Given the description of an element on the screen output the (x, y) to click on. 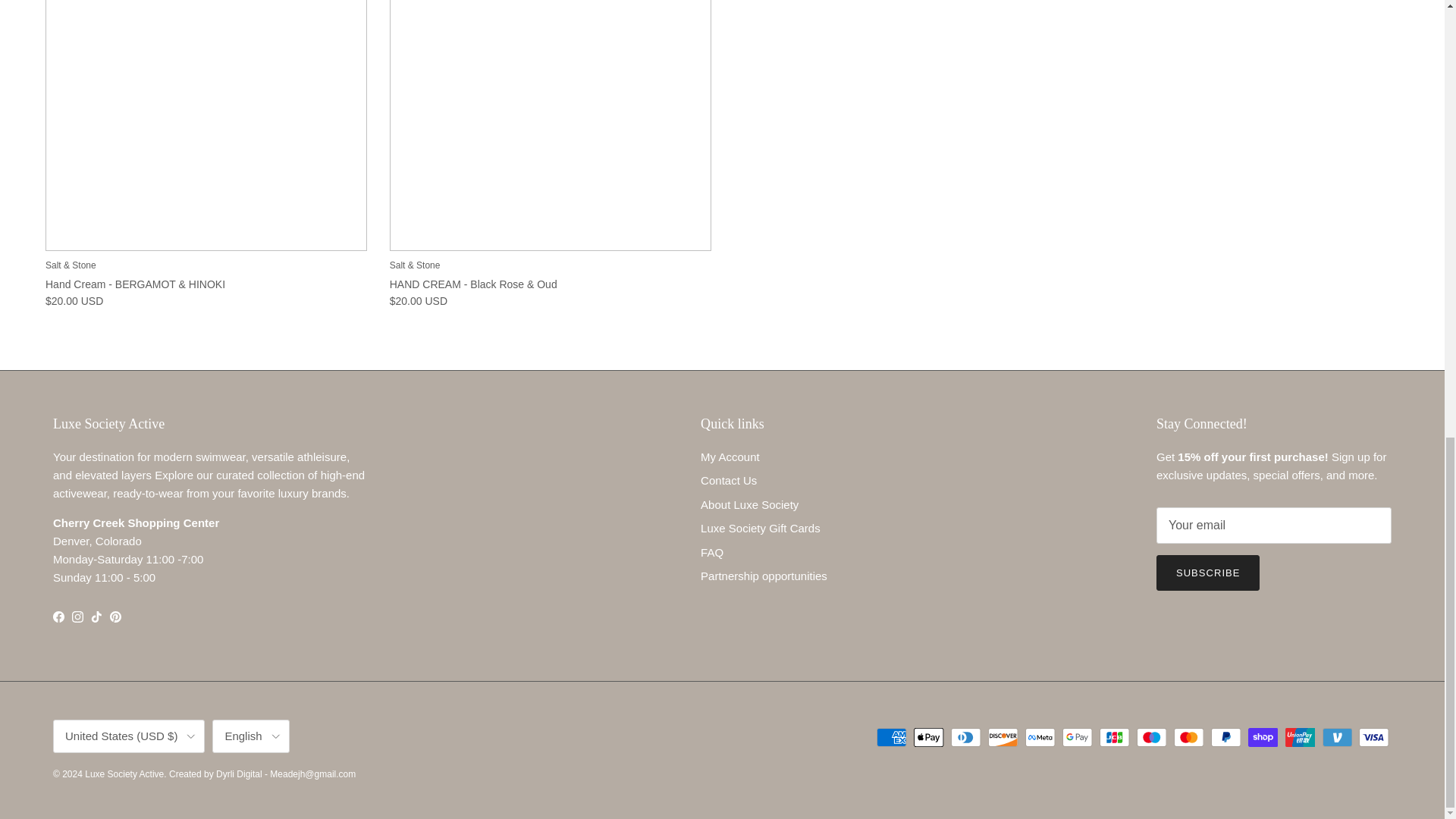
Luxe Society Active on Facebook (58, 616)
Luxe Society Active on TikTok (95, 616)
Luxe Society Active on Pinterest (115, 616)
Apple Pay (928, 737)
Luxe Society Active on Instagram (76, 616)
American Express (891, 737)
